Given the description of an element on the screen output the (x, y) to click on. 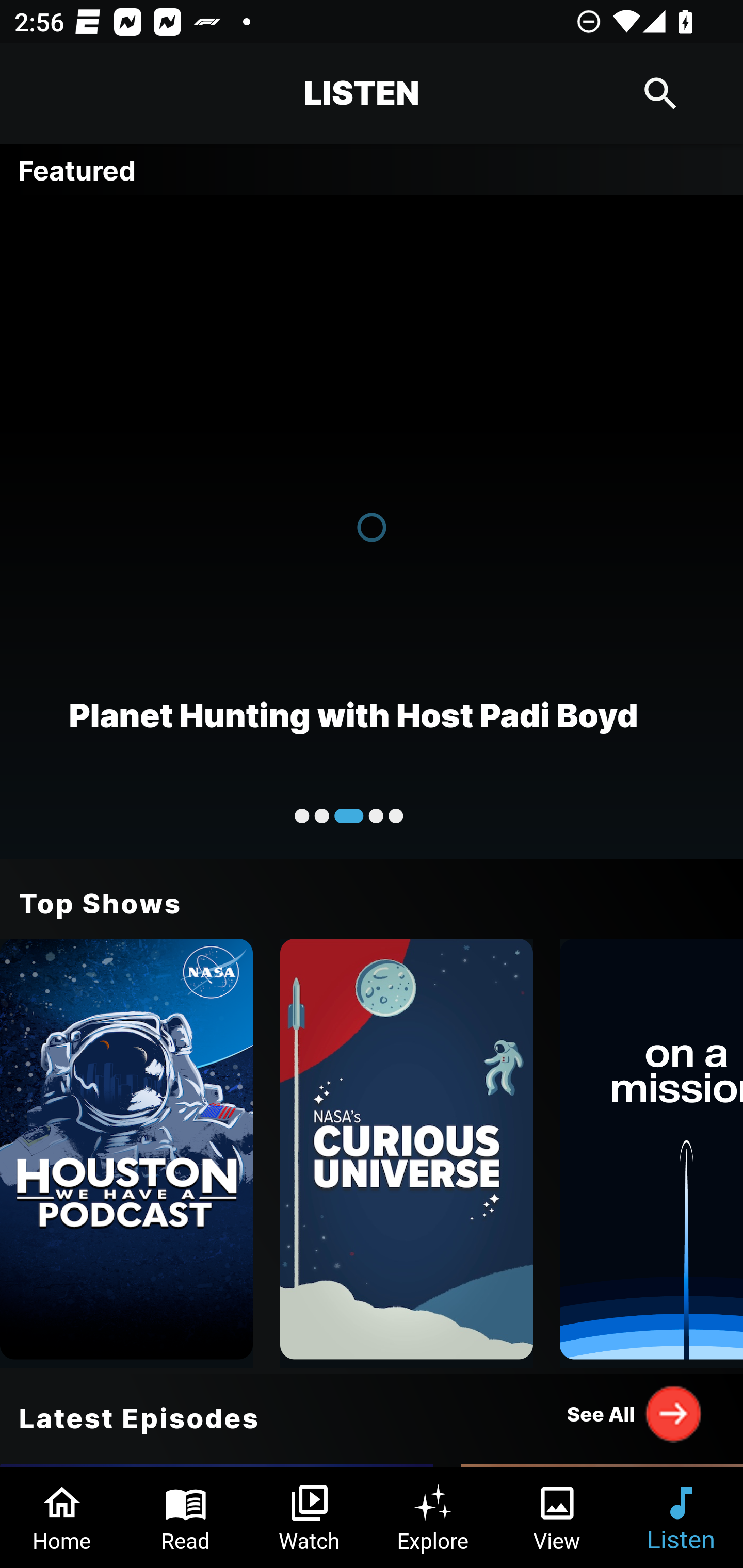
Planet Hunting with Host Padi Boyd (371, 526)
See All (634, 1413)
Home
Tab 1 of 6 (62, 1517)
Read
Tab 2 of 6 (185, 1517)
Watch
Tab 3 of 6 (309, 1517)
Explore
Tab 4 of 6 (433, 1517)
View
Tab 5 of 6 (556, 1517)
Listen
Tab 6 of 6 (680, 1517)
